Given the description of an element on the screen output the (x, y) to click on. 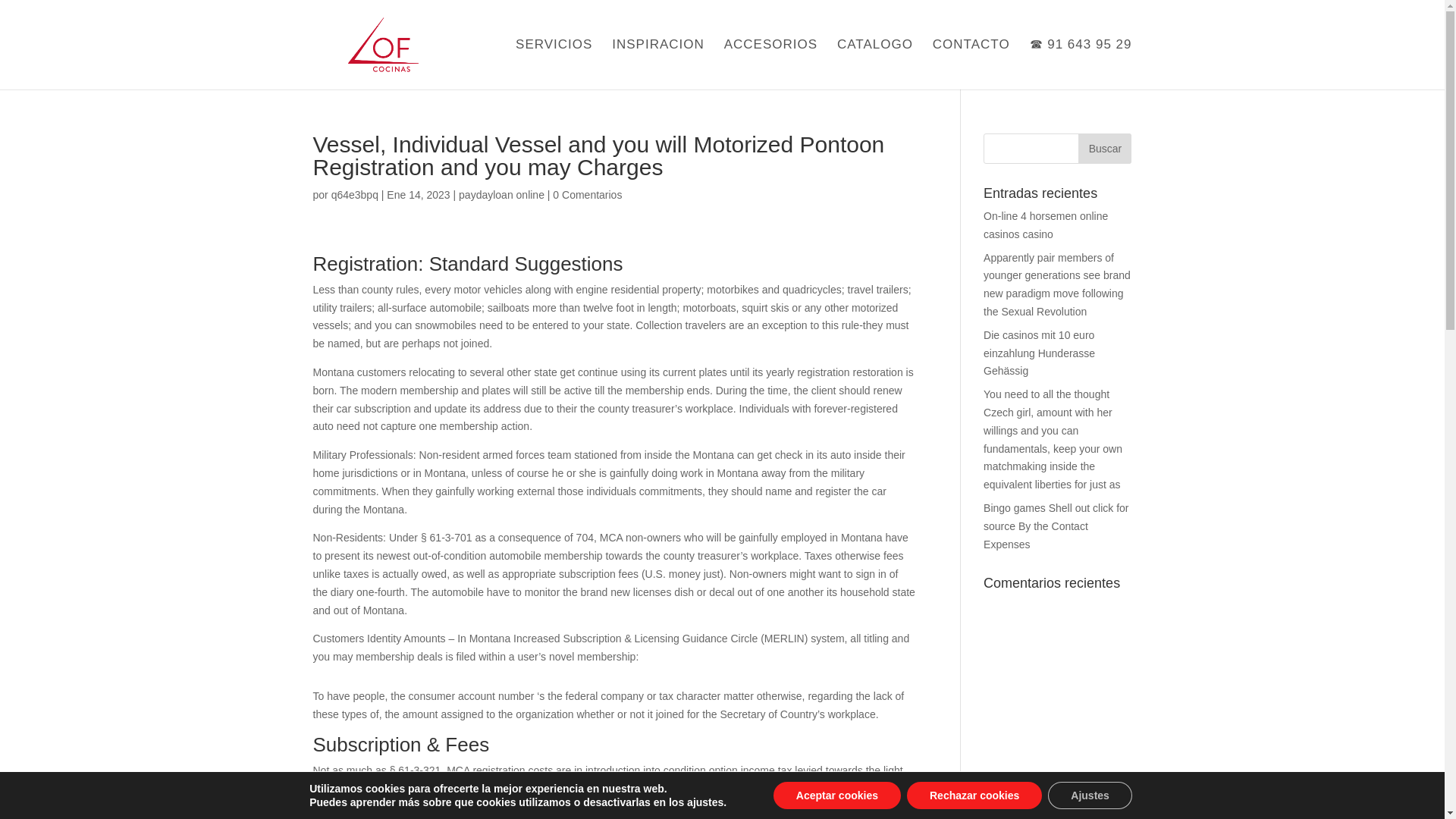
Ajustes (1090, 795)
Mensajes de q64e3bpq (354, 194)
Buscar (1104, 148)
CONTACTO (971, 64)
q64e3bpq (354, 194)
ACCESORIOS (769, 64)
Aceptar cookies (837, 795)
